Given the description of an element on the screen output the (x, y) to click on. 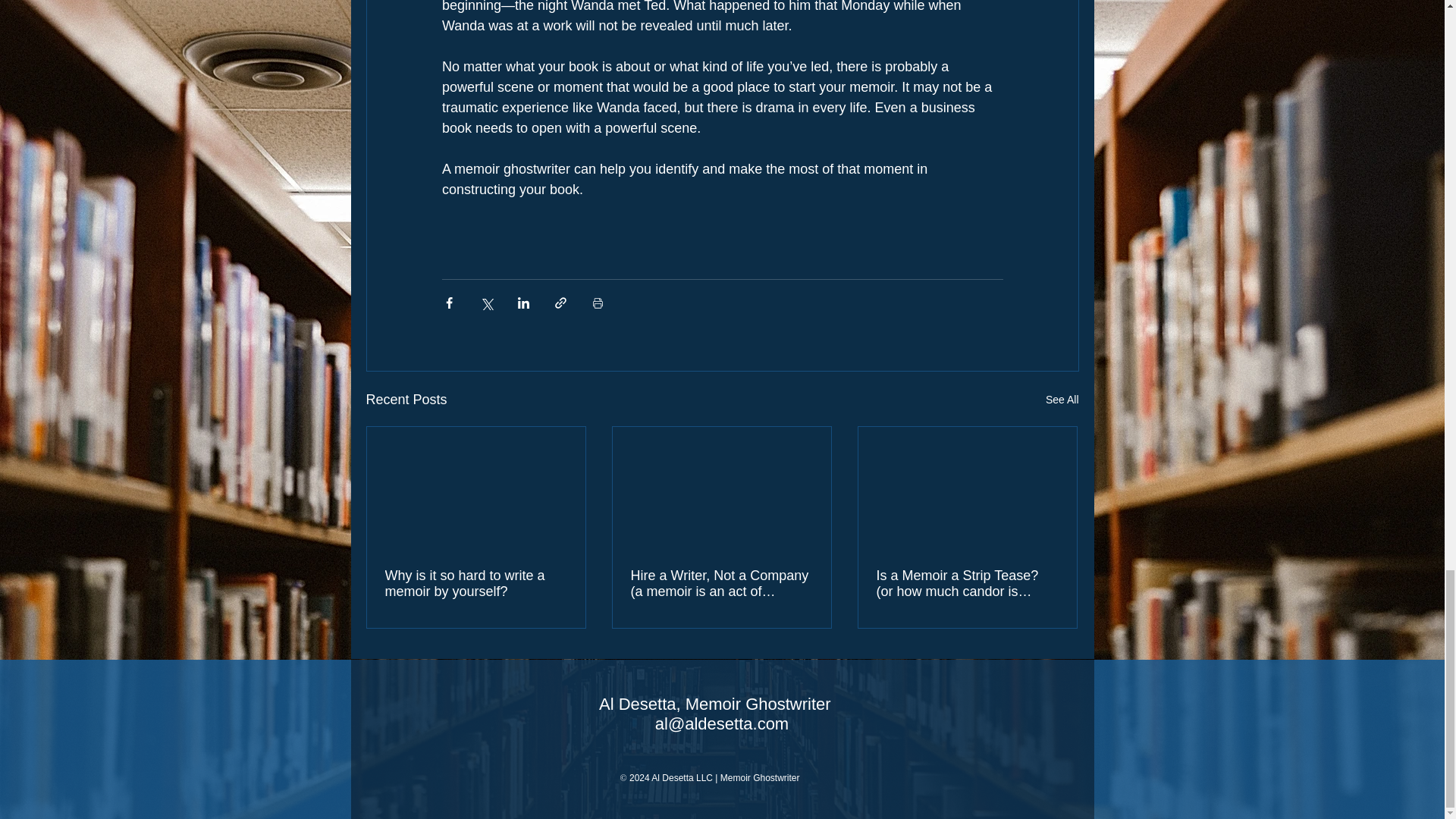
See All (1061, 400)
Why is it so hard to write a memoir by yourself? (476, 583)
